Given the description of an element on the screen output the (x, y) to click on. 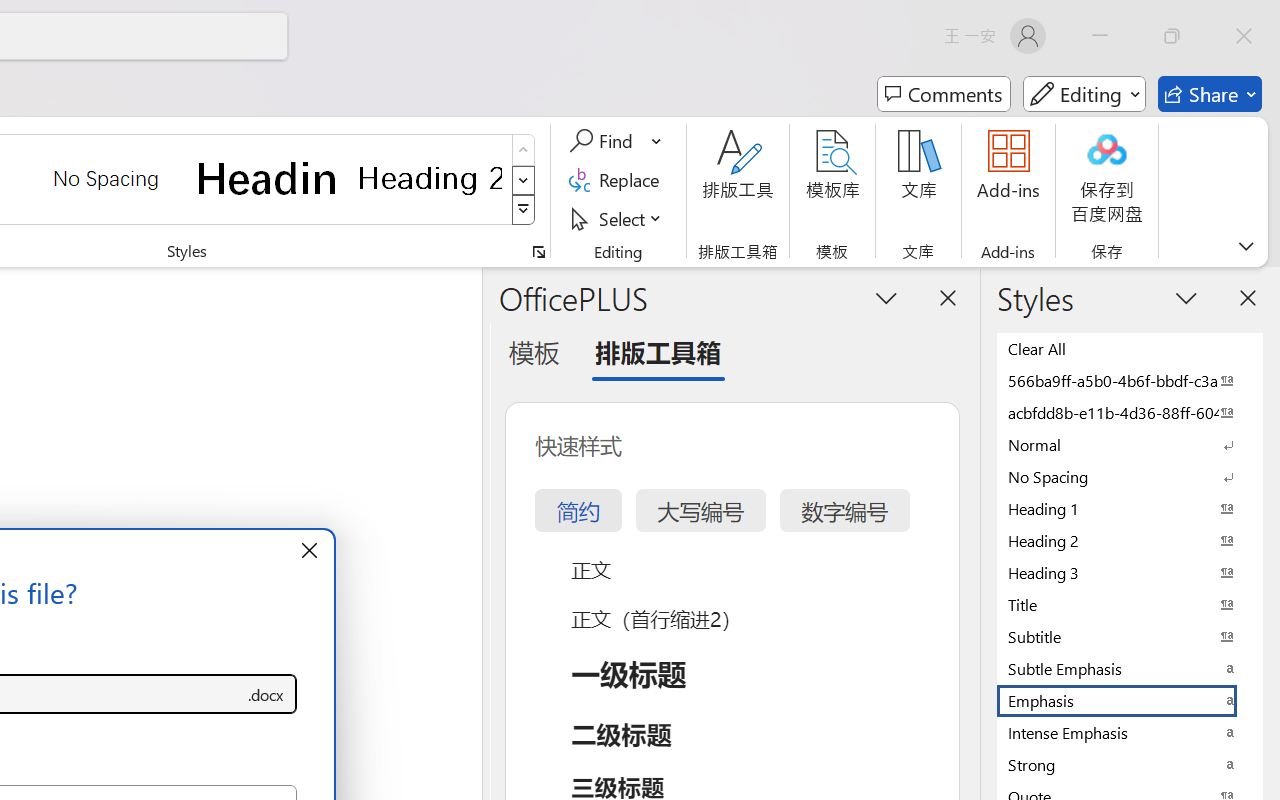
Minimize (1099, 36)
Replace... (617, 179)
Find (616, 141)
Styles (523, 209)
Heading 1 (267, 178)
Comments (943, 94)
Task Pane Options (886, 297)
Class: NetUIImage (523, 210)
Find (604, 141)
